Given the description of an element on the screen output the (x, y) to click on. 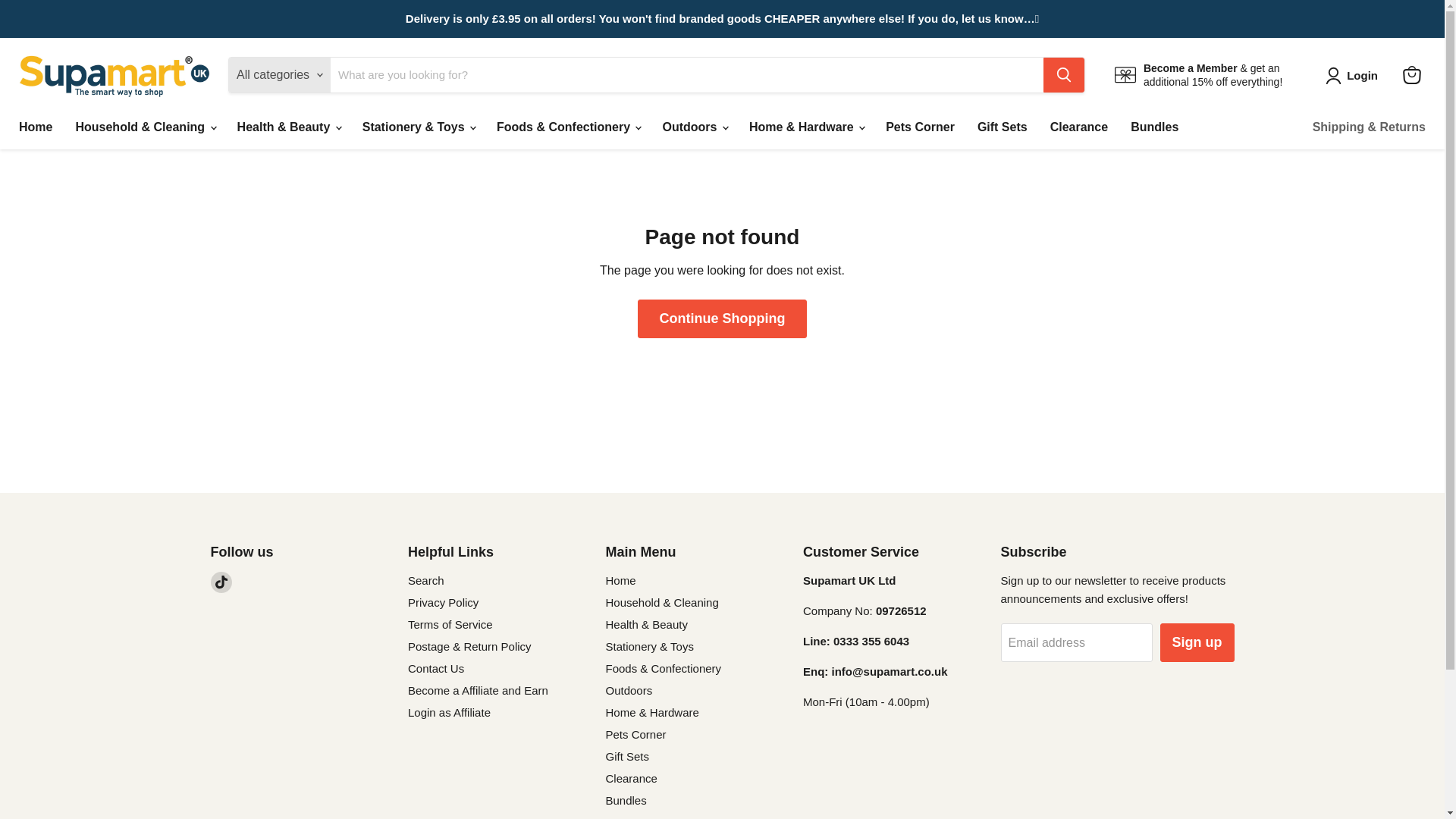
TikTok (221, 581)
Home (35, 127)
View cart (1411, 74)
Login (1354, 75)
